Given the description of an element on the screen output the (x, y) to click on. 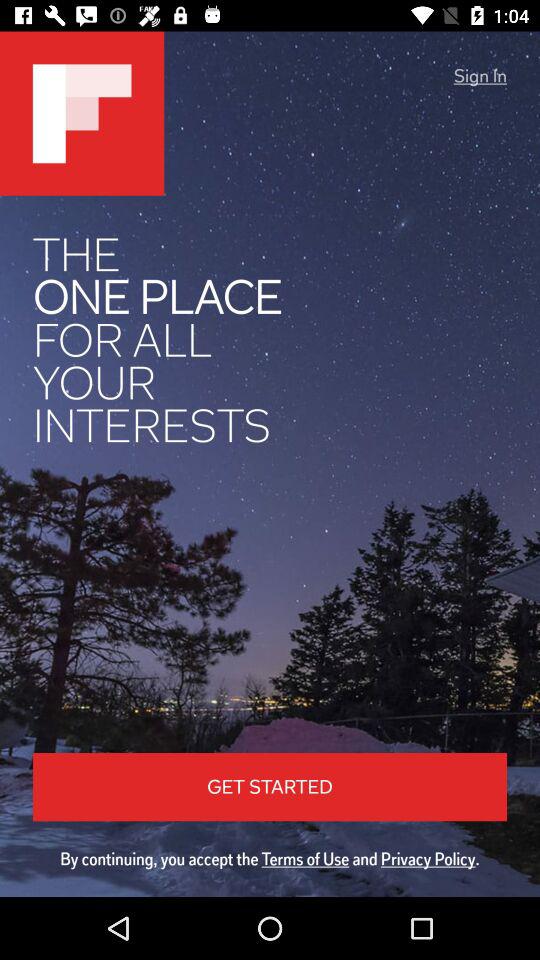
turn off item at the top right corner (480, 75)
